Given the description of an element on the screen output the (x, y) to click on. 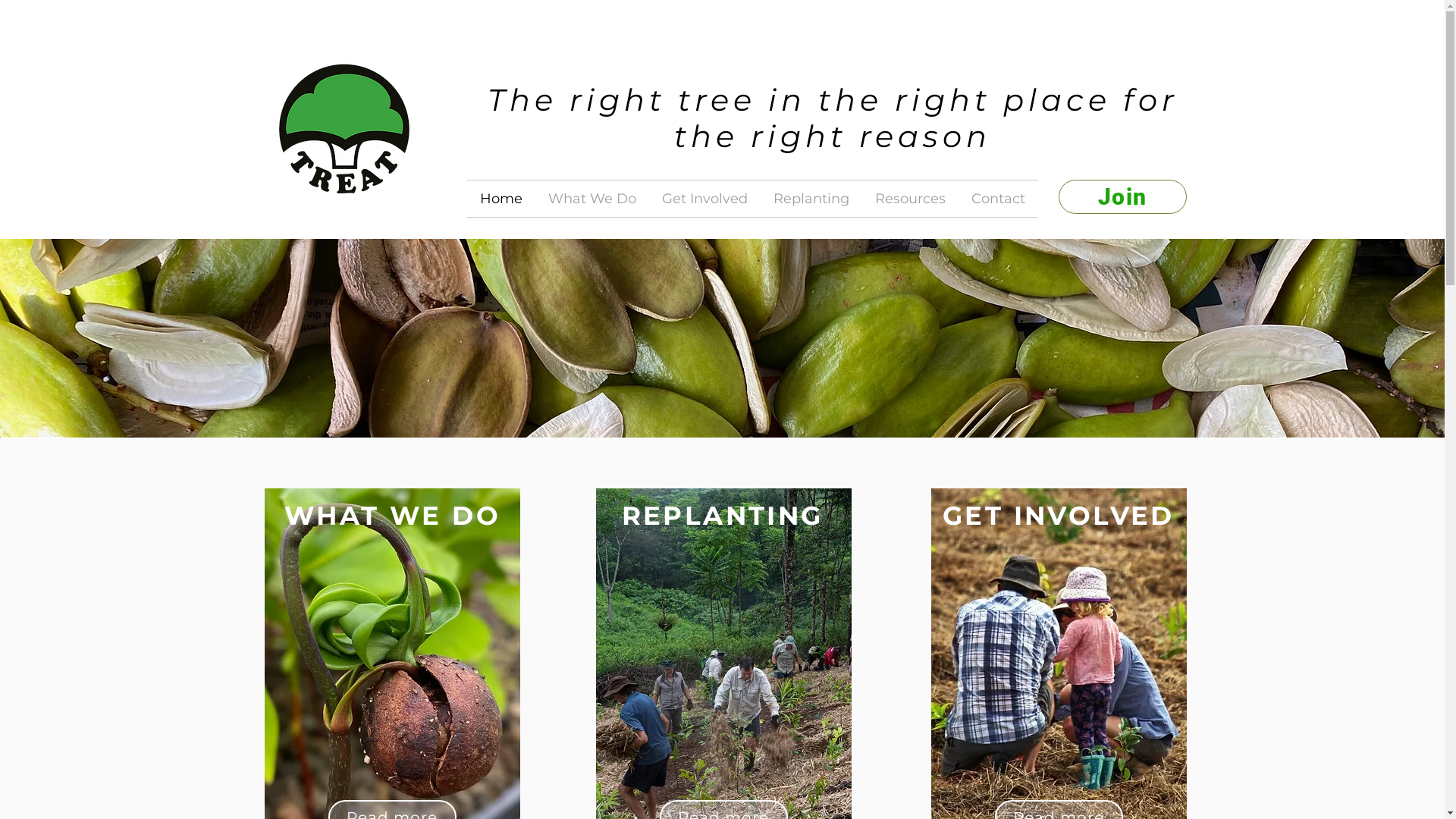
Resources Element type: text (909, 198)
Contact Element type: text (998, 198)
Get Involved Element type: text (704, 198)
What We Do Element type: text (592, 198)
Replanting Element type: text (810, 198)
Join Element type: text (1122, 196)
Home Element type: text (501, 198)
